Given the description of an element on the screen output the (x, y) to click on. 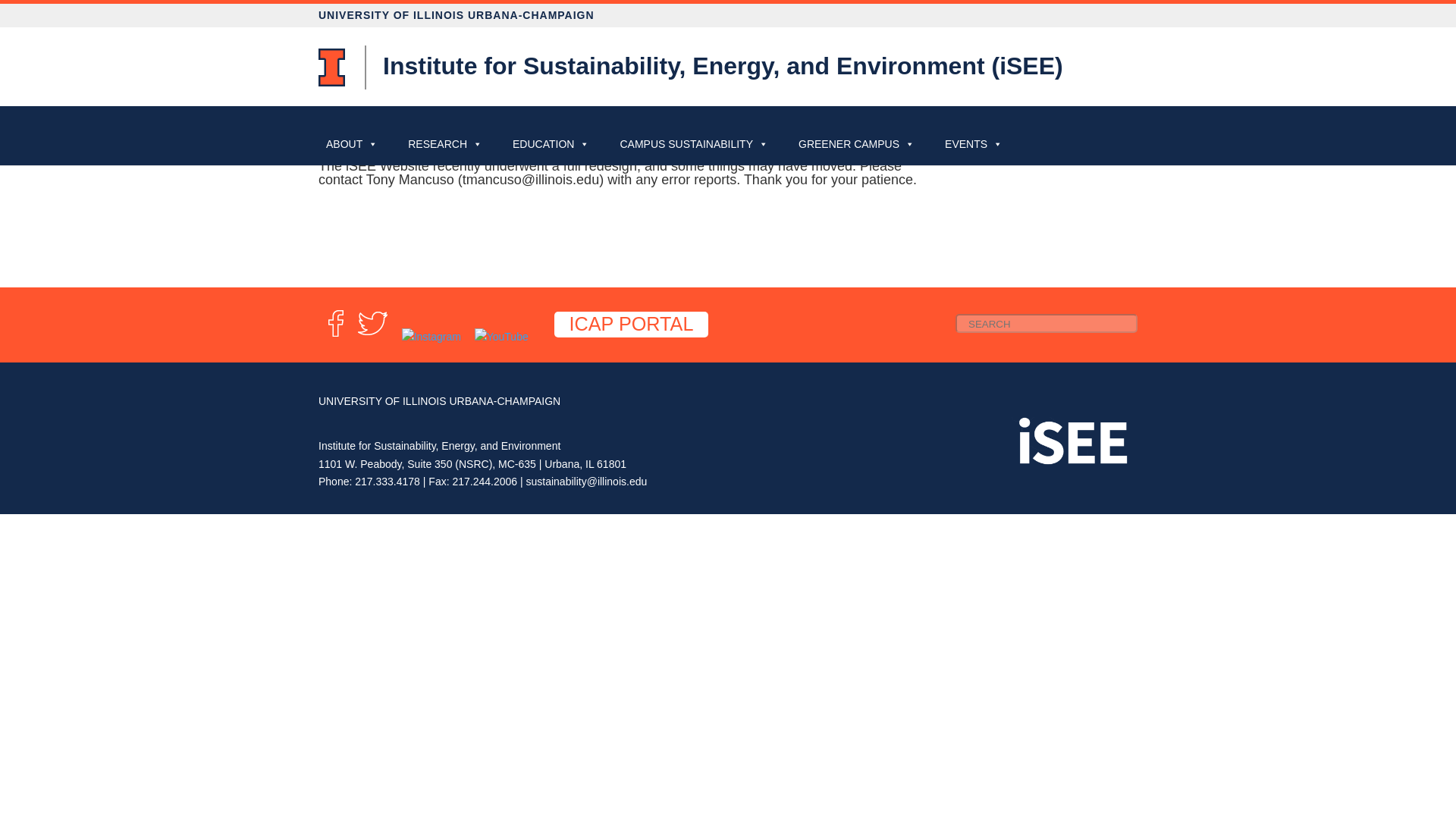
YouTube (501, 336)
Search for: (1046, 322)
ABOUT (351, 144)
RESEARCH (444, 144)
CAMPUS SUSTAINABILITY (693, 144)
Facebook (335, 336)
UNIVERSITY OF ILLINOIS URBANA-CHAMPAIGN (727, 15)
Twitter (372, 336)
ICAP PORTAL (631, 324)
Instagram (431, 336)
